Given the description of an element on the screen output the (x, y) to click on. 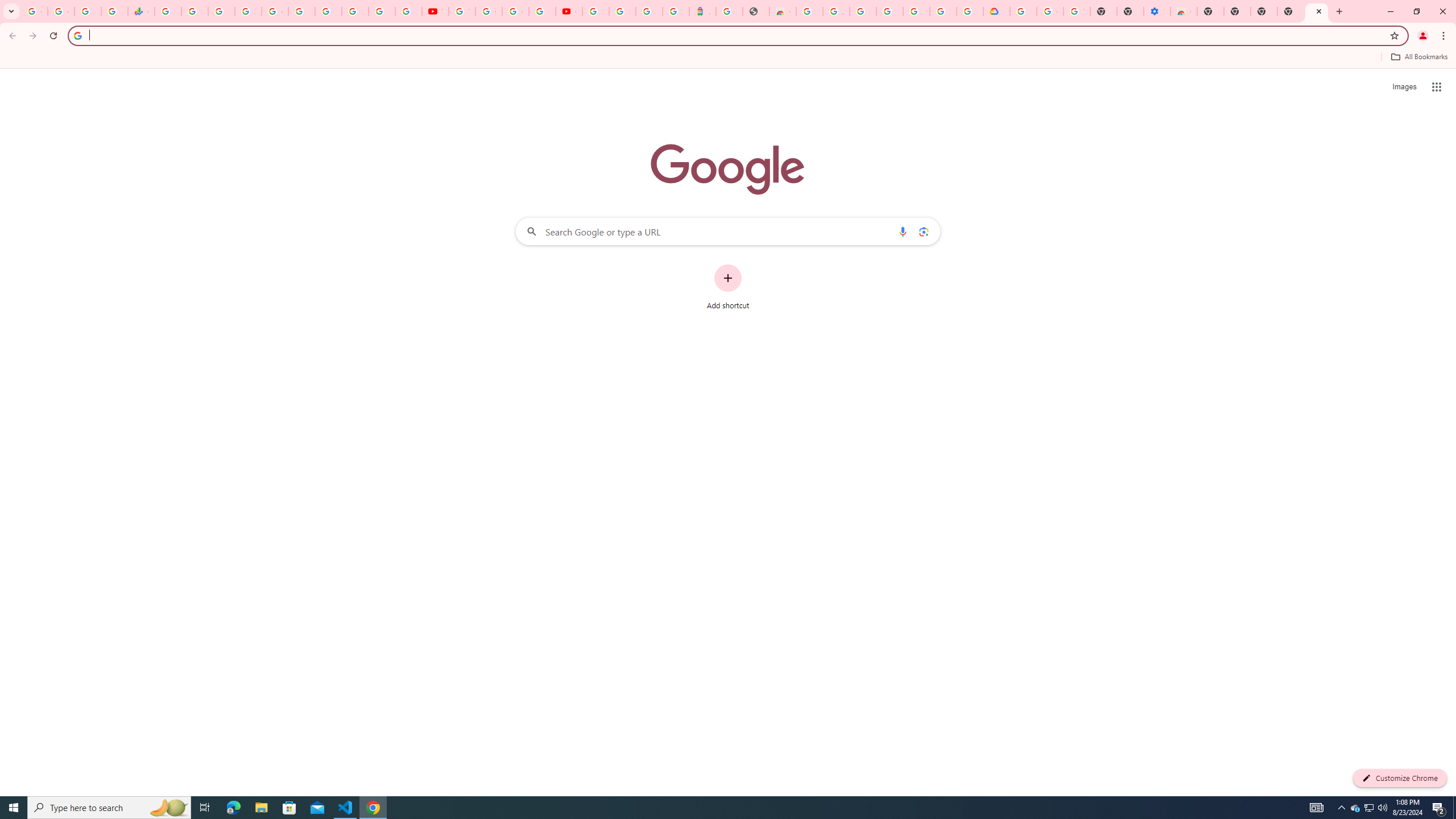
Privacy Checkup (408, 11)
